Given the description of an element on the screen output the (x, y) to click on. 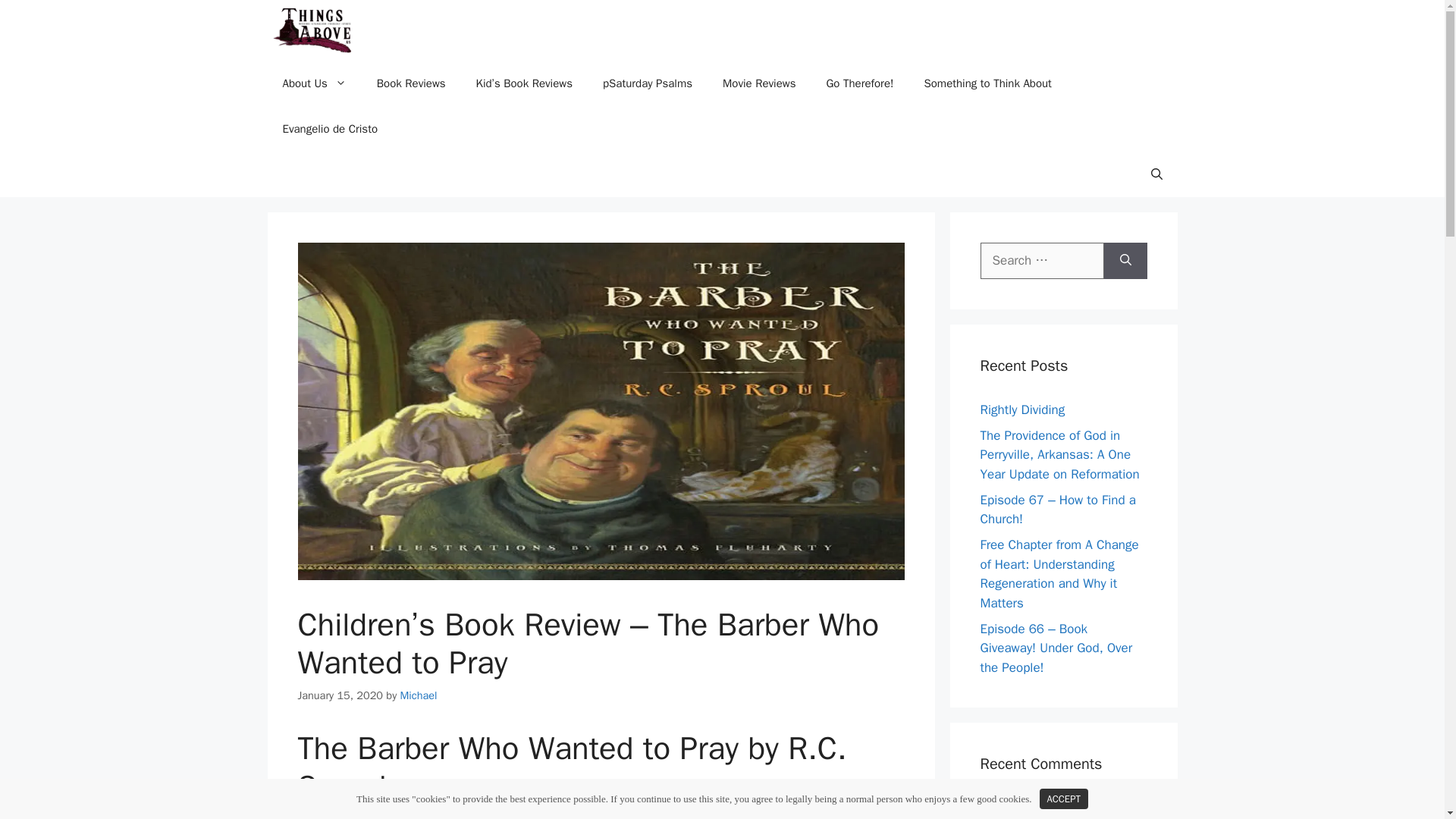
View all posts by Michael (419, 694)
About Us (313, 83)
Search for: (1041, 260)
pSaturday Psalms (647, 83)
Book Reviews (411, 83)
Things Above Us (312, 30)
